Given the description of an element on the screen output the (x, y) to click on. 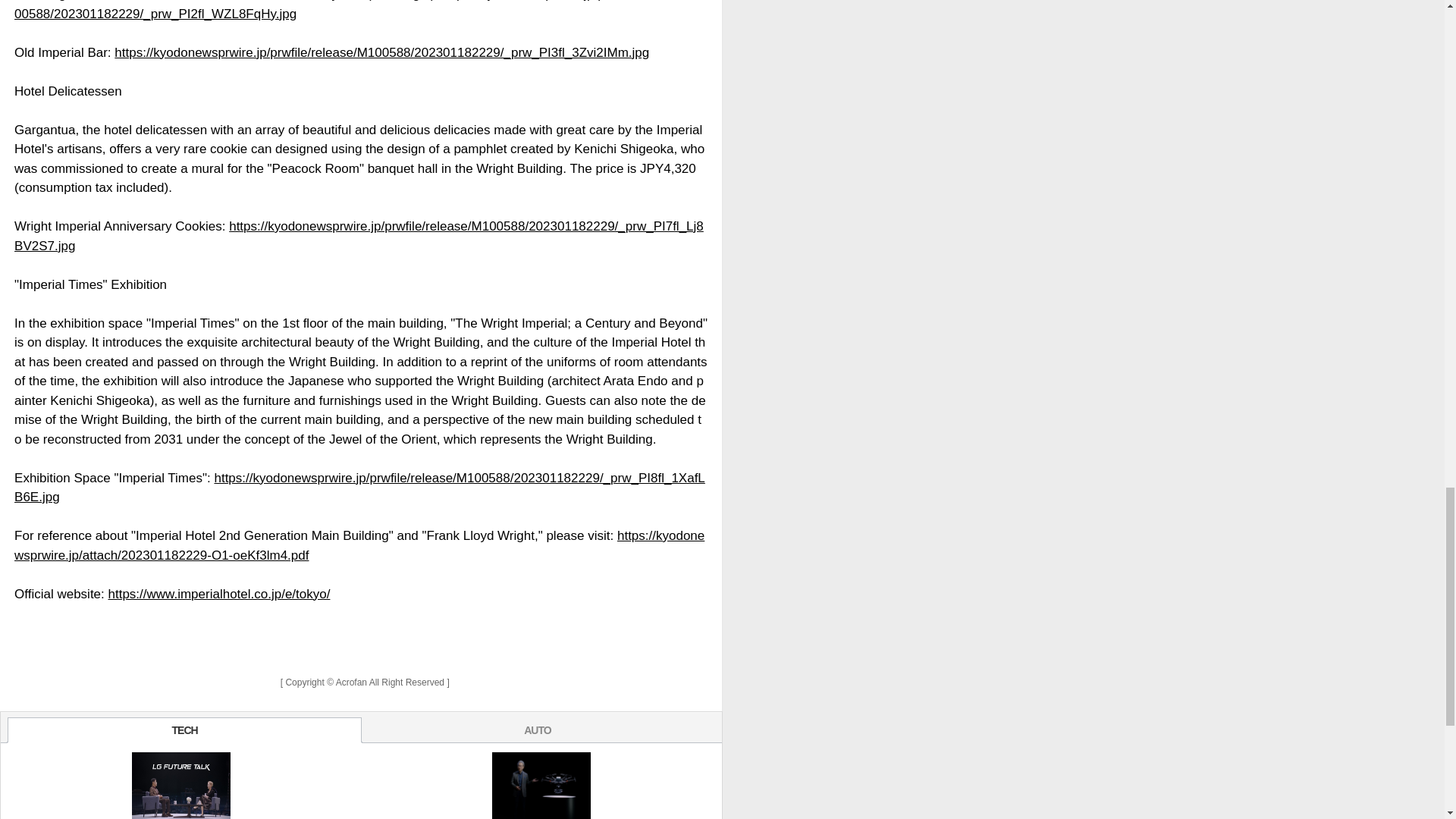
TECH (184, 729)
AUTO (537, 729)
